Given the description of an element on the screen output the (x, y) to click on. 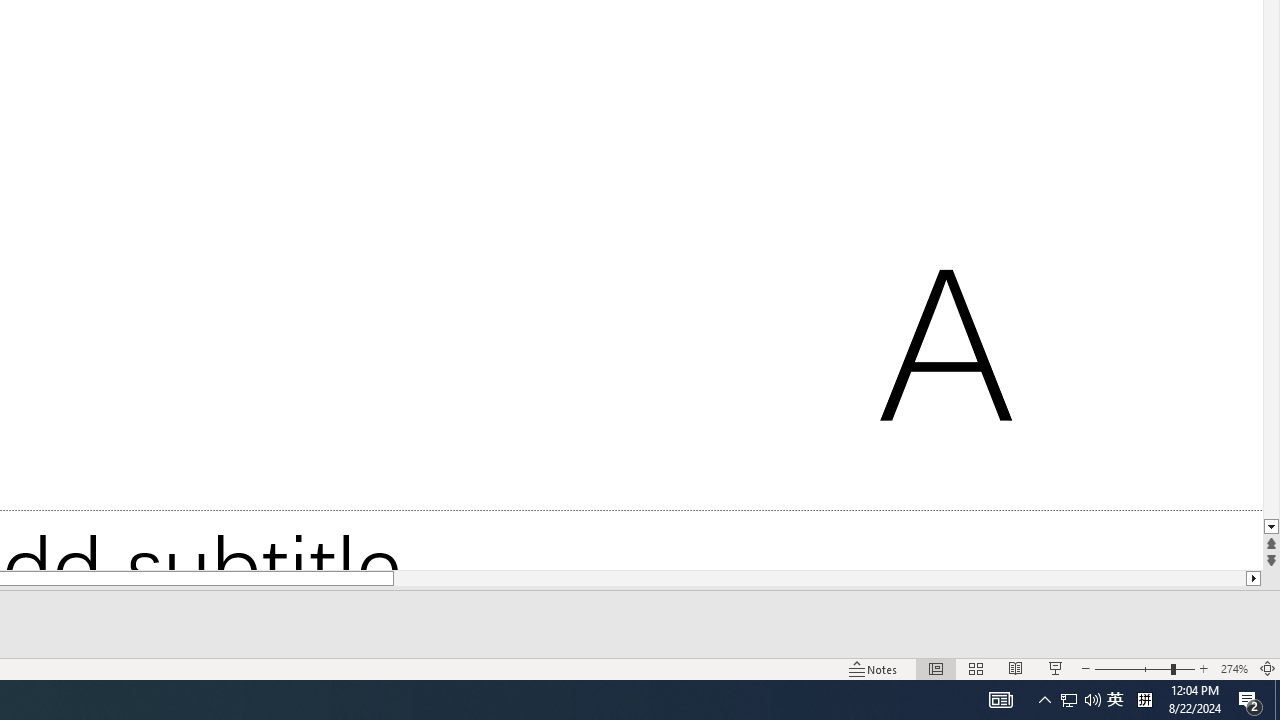
Zoom 274% (1234, 668)
